Given the description of an element on the screen output the (x, y) to click on. 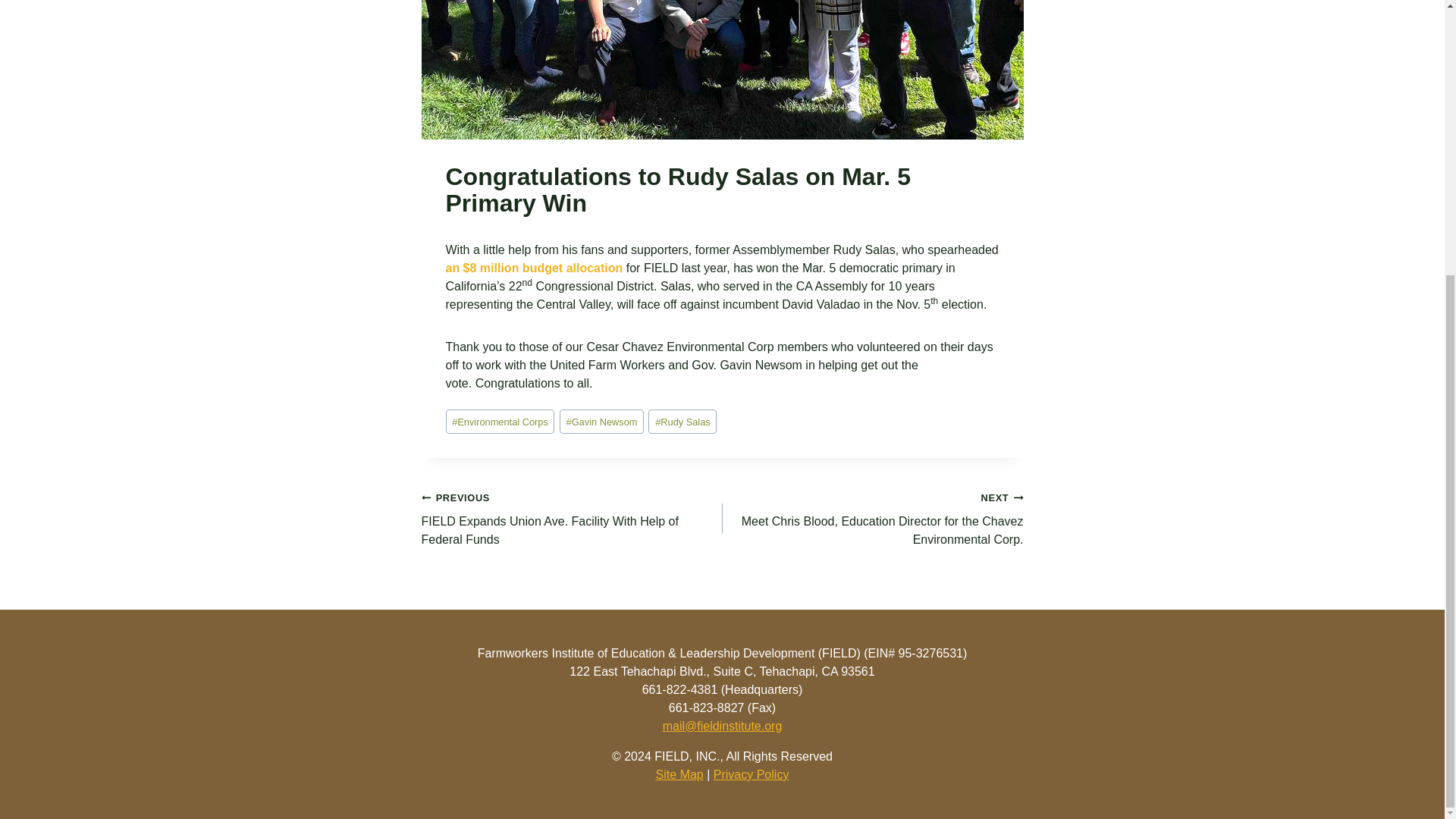
Gavin Newsom (601, 421)
Environmental Corps (499, 421)
Rudy Salas (681, 421)
